Given the description of an element on the screen output the (x, y) to click on. 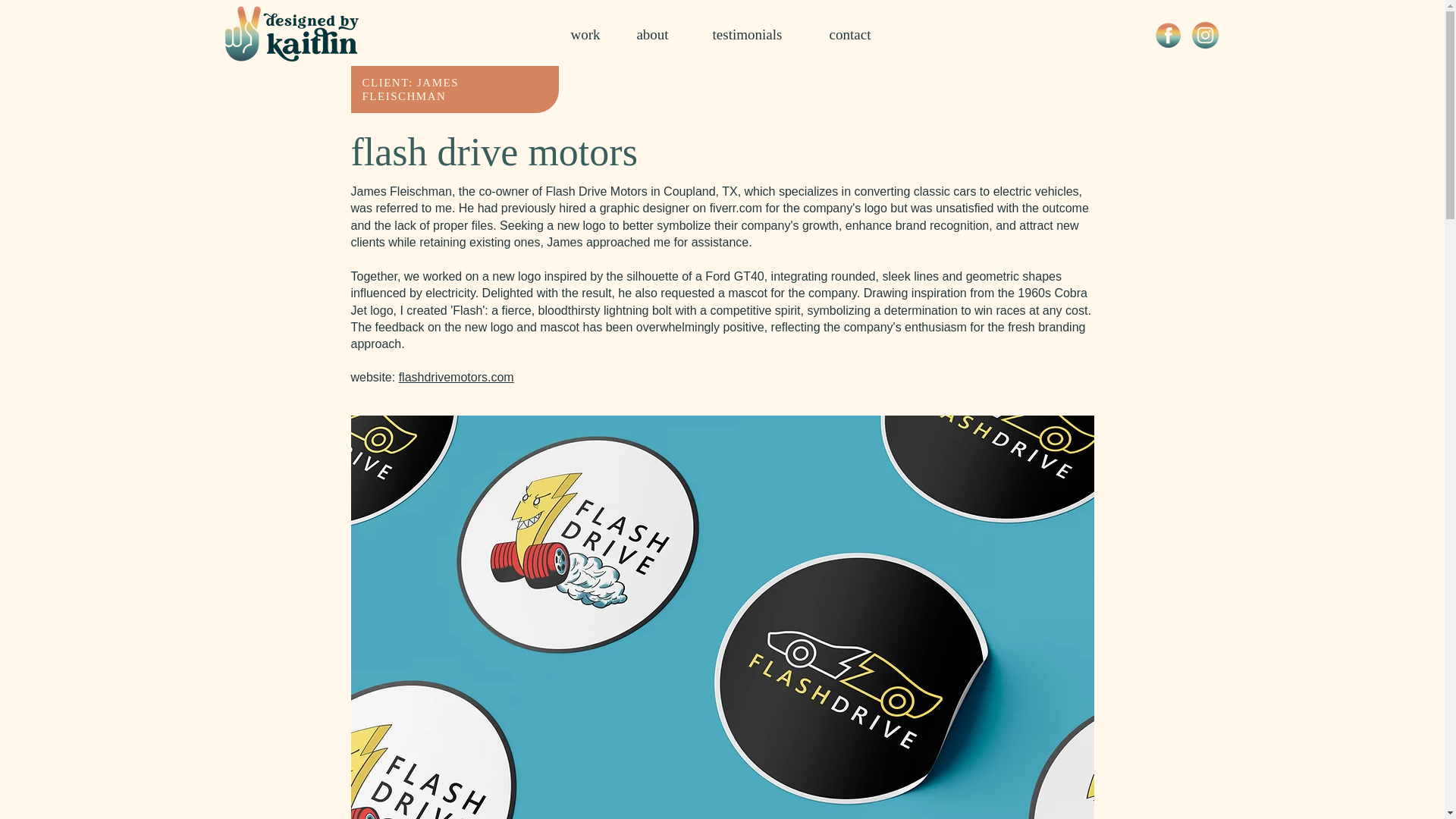
testimonials (747, 34)
work (584, 34)
flashdrivemotors.com (455, 377)
contact (850, 34)
about (652, 34)
